Given the description of an element on the screen output the (x, y) to click on. 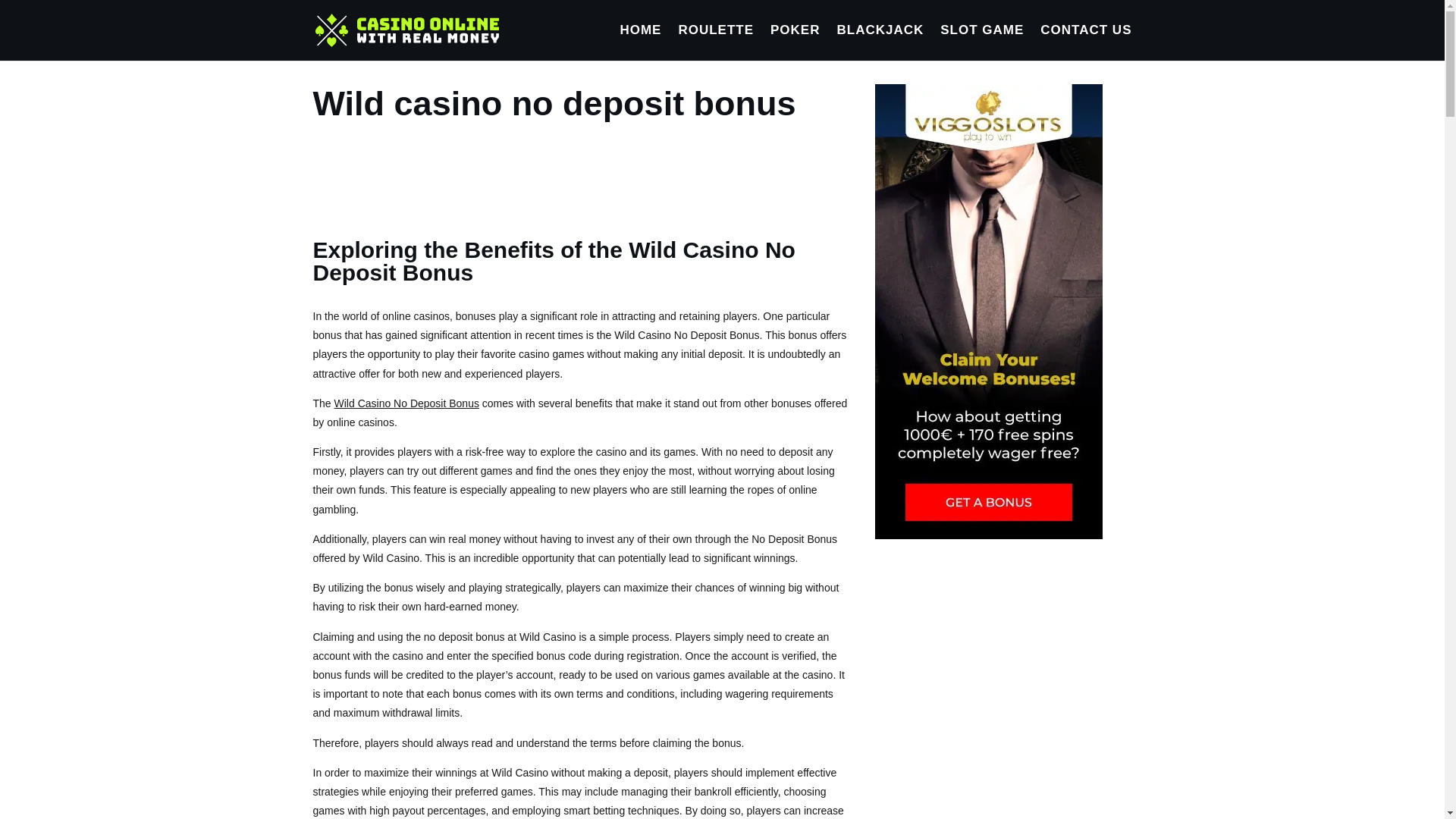
HOME (640, 42)
ROULETTE (716, 42)
SLOT GAME (981, 42)
CONTACT US (1086, 42)
BLACKJACK (879, 42)
POKER (794, 42)
